Given the description of an element on the screen output the (x, y) to click on. 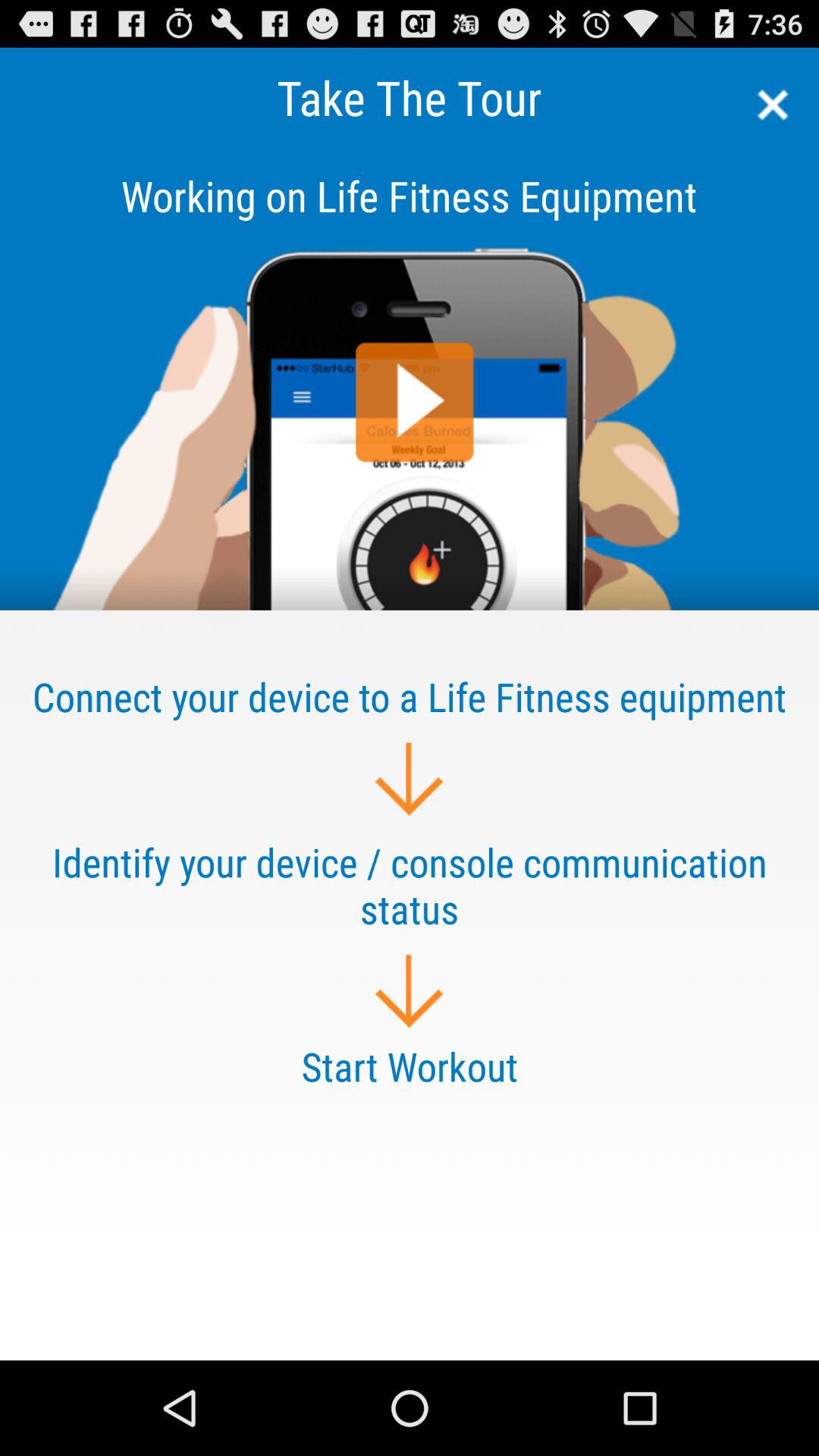
video box (409, 378)
